Given the description of an element on the screen output the (x, y) to click on. 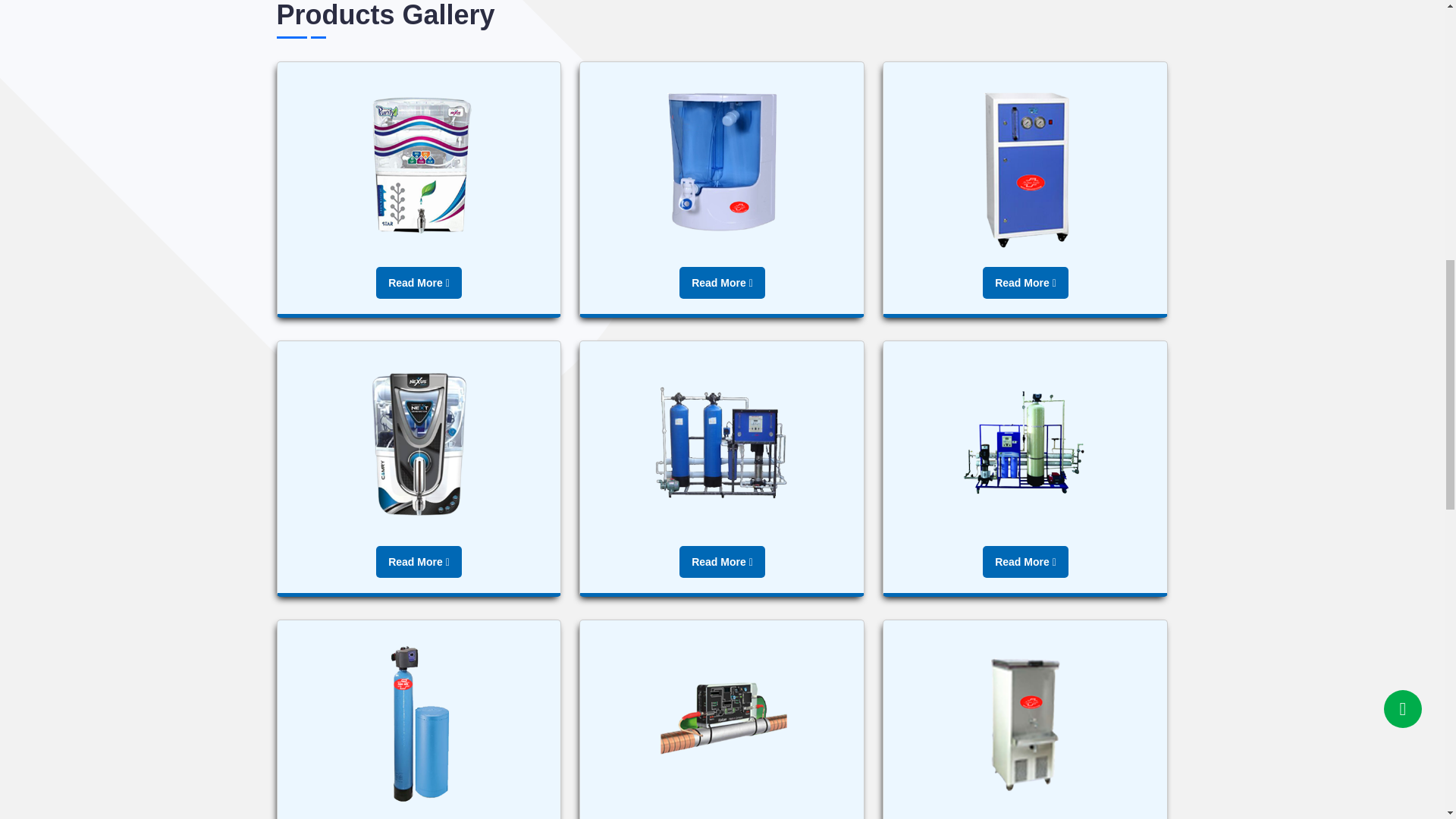
Read More (1025, 562)
Read More (722, 562)
Read More (418, 282)
Read More (722, 282)
Read More (1025, 282)
Read More (418, 562)
